Given the description of an element on the screen output the (x, y) to click on. 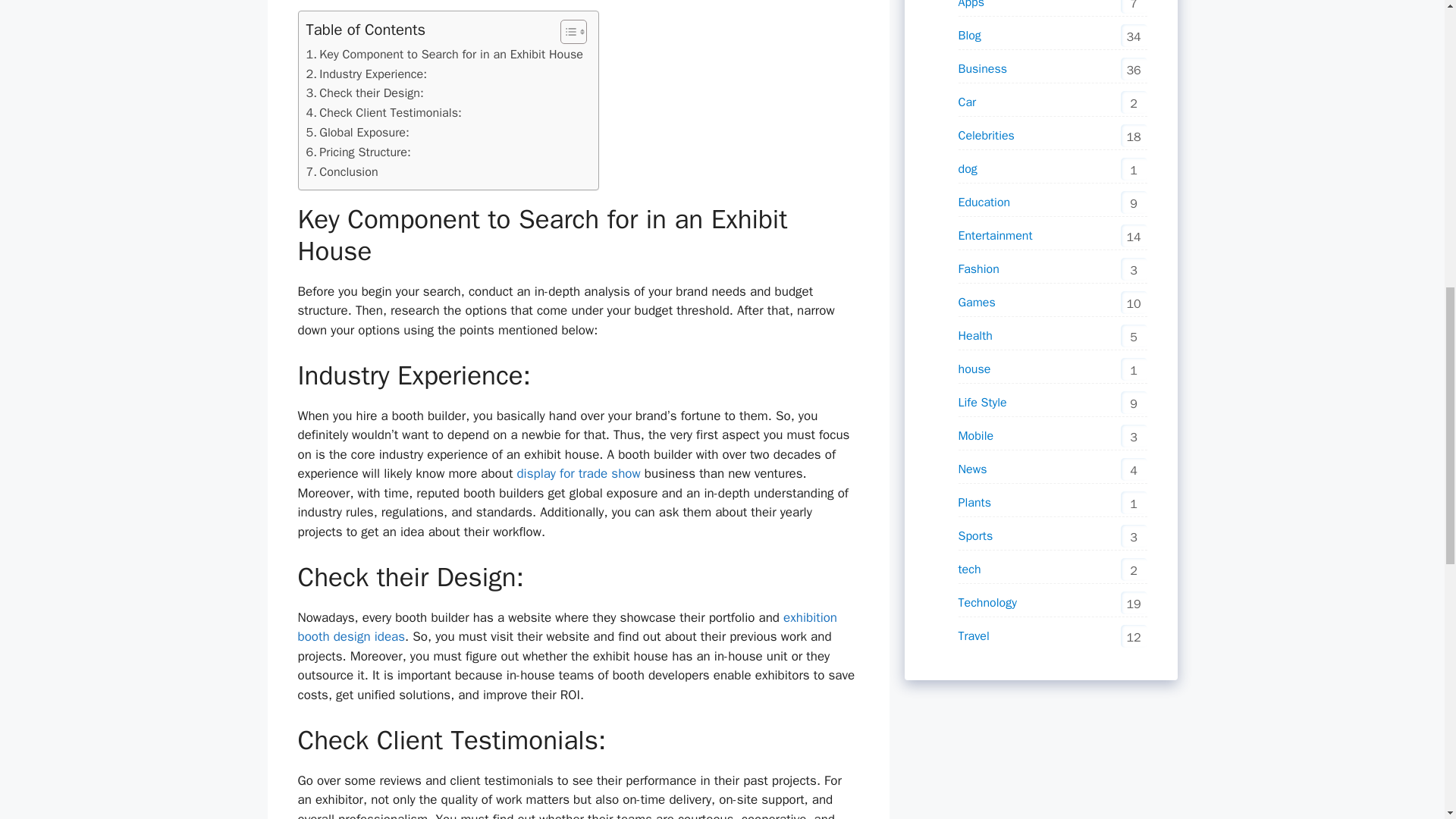
Check their Design: (364, 93)
display for trade show (578, 473)
Industry Experience:  (367, 74)
Pricing Structure: (357, 152)
Global Exposure:  (359, 132)
Pricing Structure: (357, 152)
Key Component to Search for in an Exhibit House (444, 54)
Check Client Testimonials: (383, 112)
Check Client Testimonials: (383, 112)
Key Component to Search for in an Exhibit House (444, 54)
exhibition booth design ideas (567, 627)
Conclusion  (343, 171)
Check their Design: (364, 93)
